Given the description of an element on the screen output the (x, y) to click on. 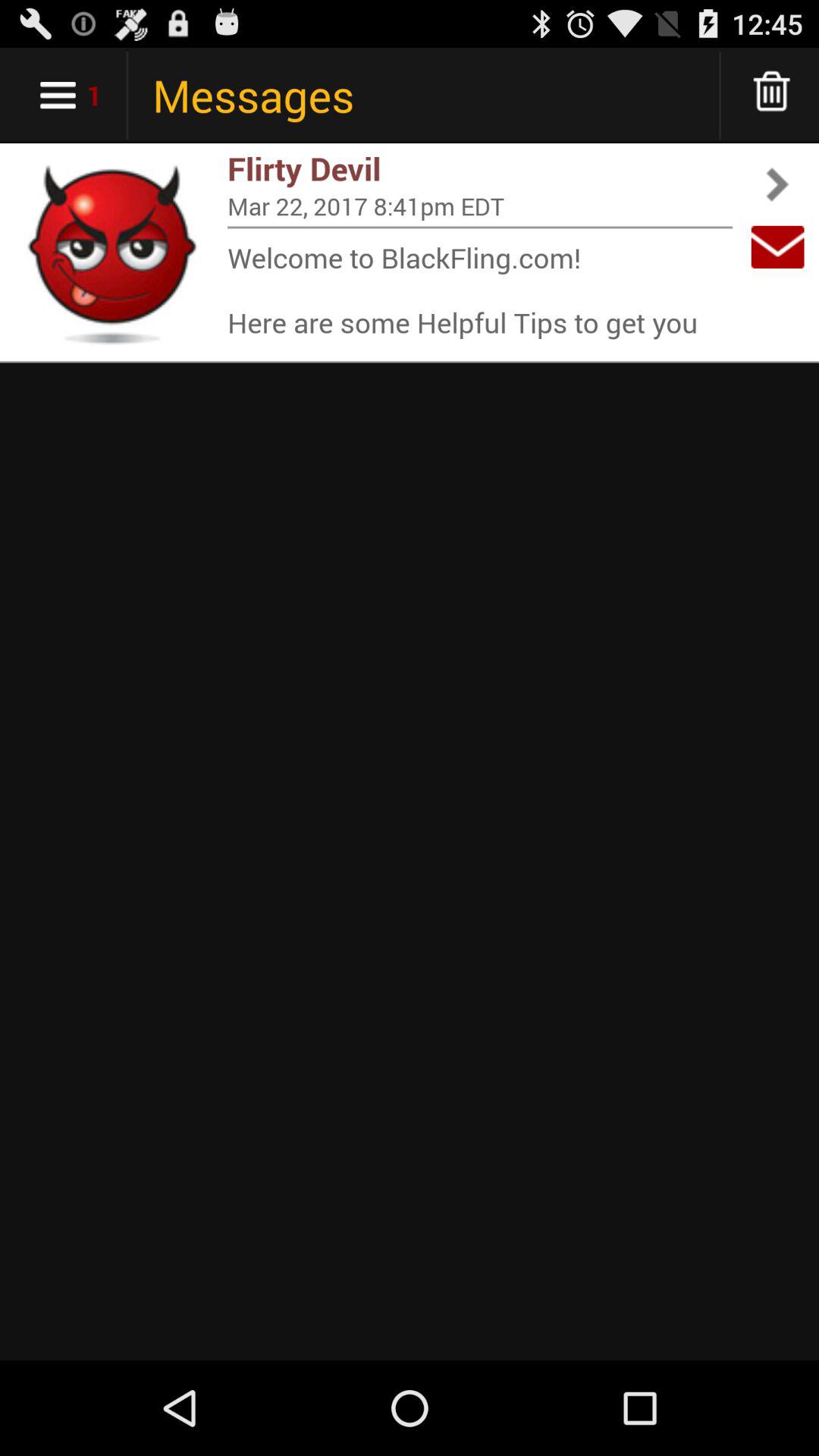
scroll until the welcome to blackfling item (479, 289)
